Given the description of an element on the screen output the (x, y) to click on. 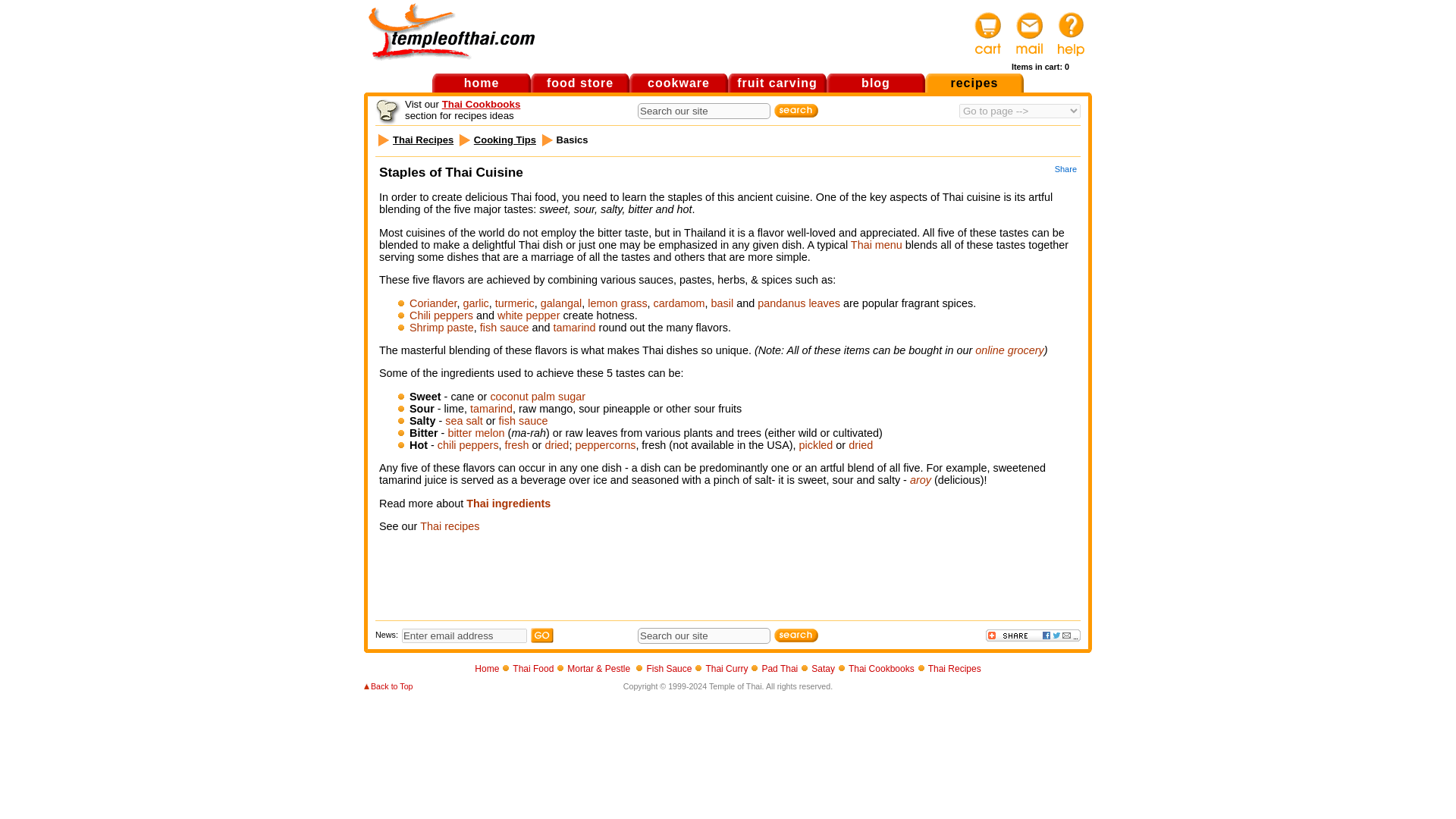
fish sauce (523, 420)
sea salt (464, 420)
chili peppers (468, 444)
Chili peppers (441, 315)
turmeric (514, 303)
submit (796, 635)
tamarind (574, 327)
Temple of Thai on Twitter (734, 603)
galangal (560, 303)
Enter email address (464, 635)
lemon grass (617, 303)
fish sauce (504, 327)
coconut palm sugar (537, 396)
garlic (475, 303)
submit (796, 110)
